Given the description of an element on the screen output the (x, y) to click on. 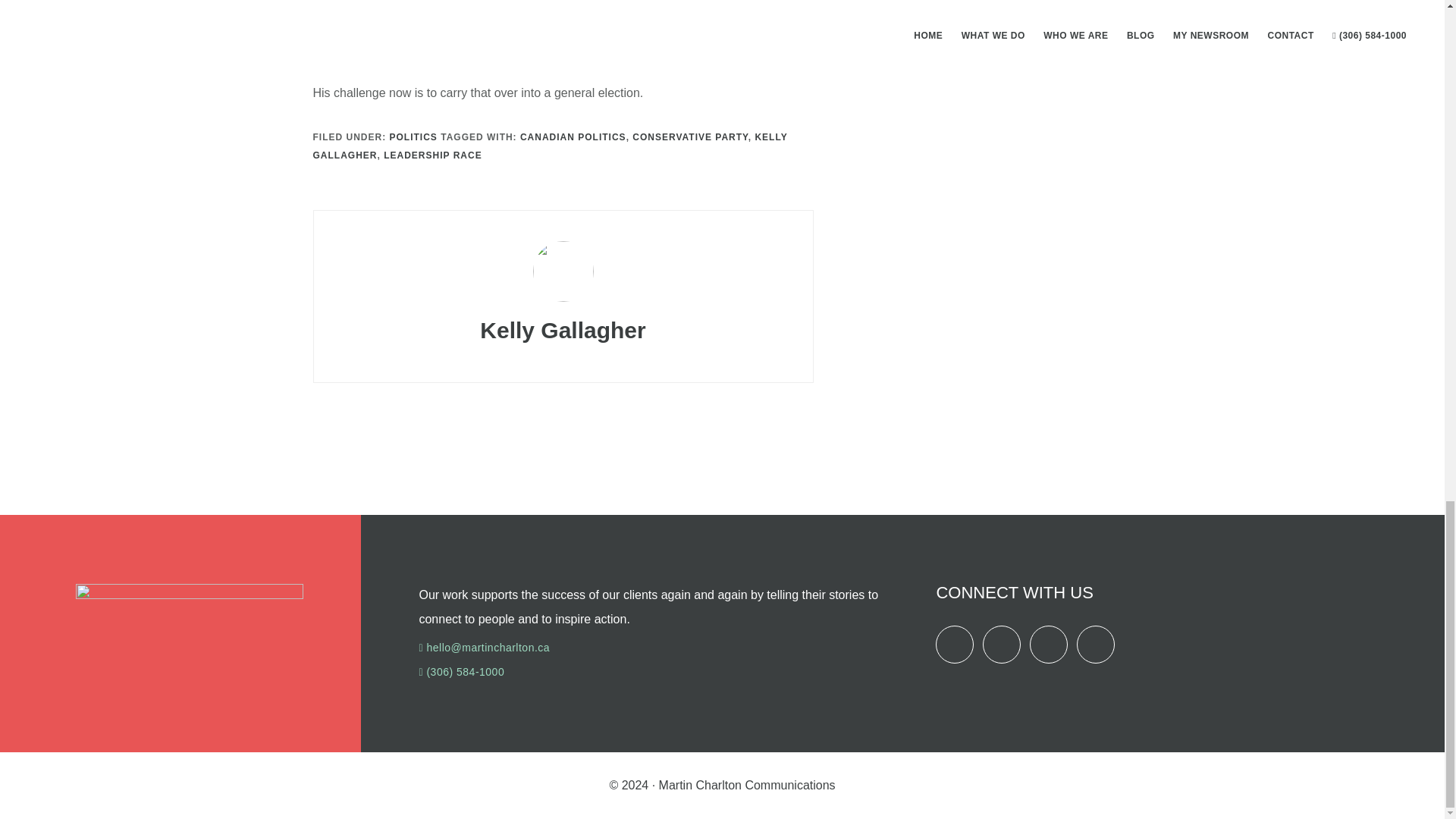
POLITICS (414, 136)
CONSERVATIVE PARTY (689, 136)
CANADIAN POLITICS (572, 136)
KELLY GALLAGHER (550, 145)
LEADERSHIP RACE (432, 154)
